Given the description of an element on the screen output the (x, y) to click on. 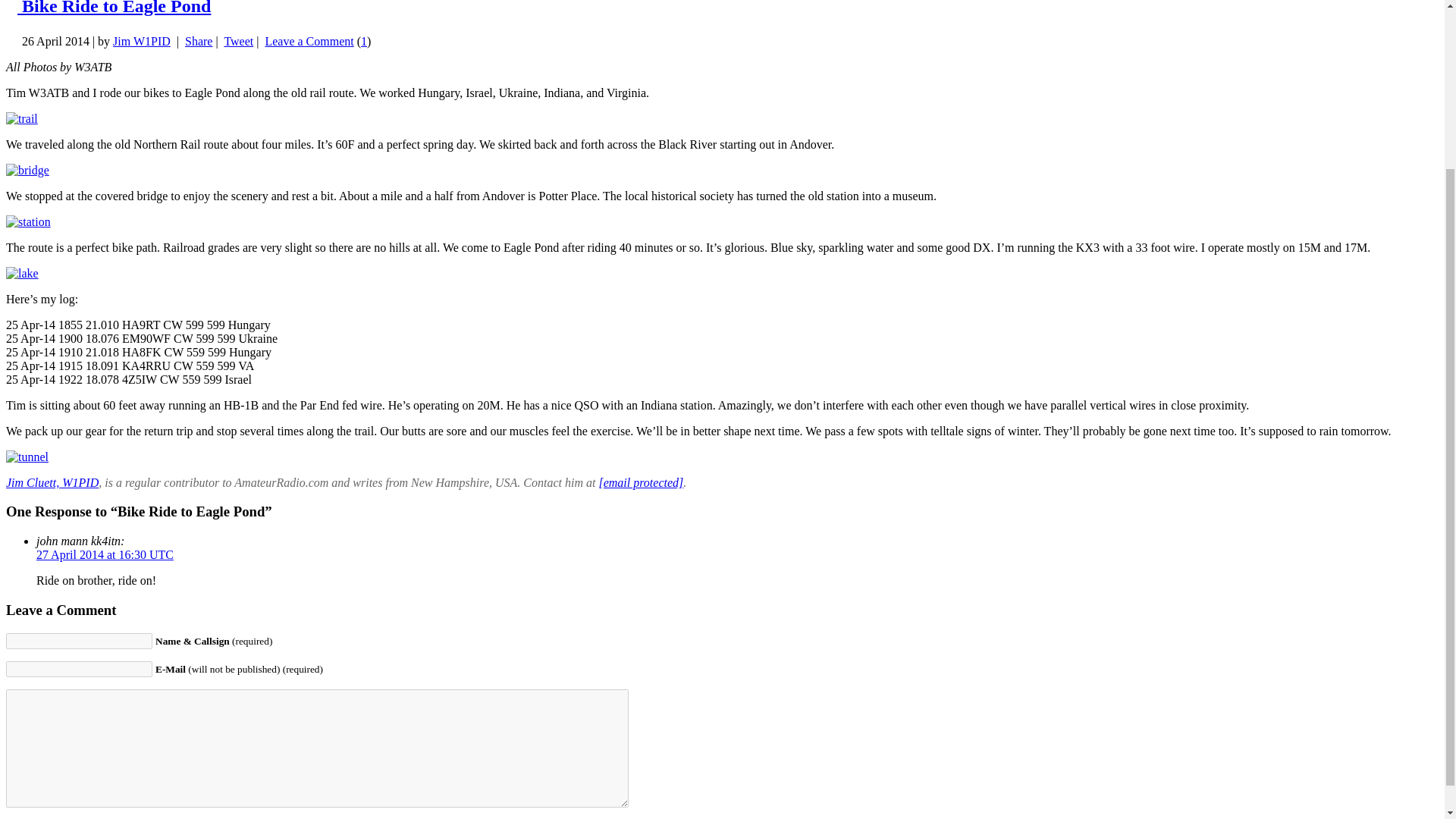
Bike Ride to Eagle Pond (114, 7)
Tweet (238, 41)
Leave a Comment (308, 41)
Bike Ride to Eagle Pond (114, 7)
Jim Cluett, W1PID (52, 481)
27 April 2014 at 16:30 UTC (104, 554)
Jim W1PID (141, 41)
Share (198, 41)
